Given the description of an element on the screen output the (x, y) to click on. 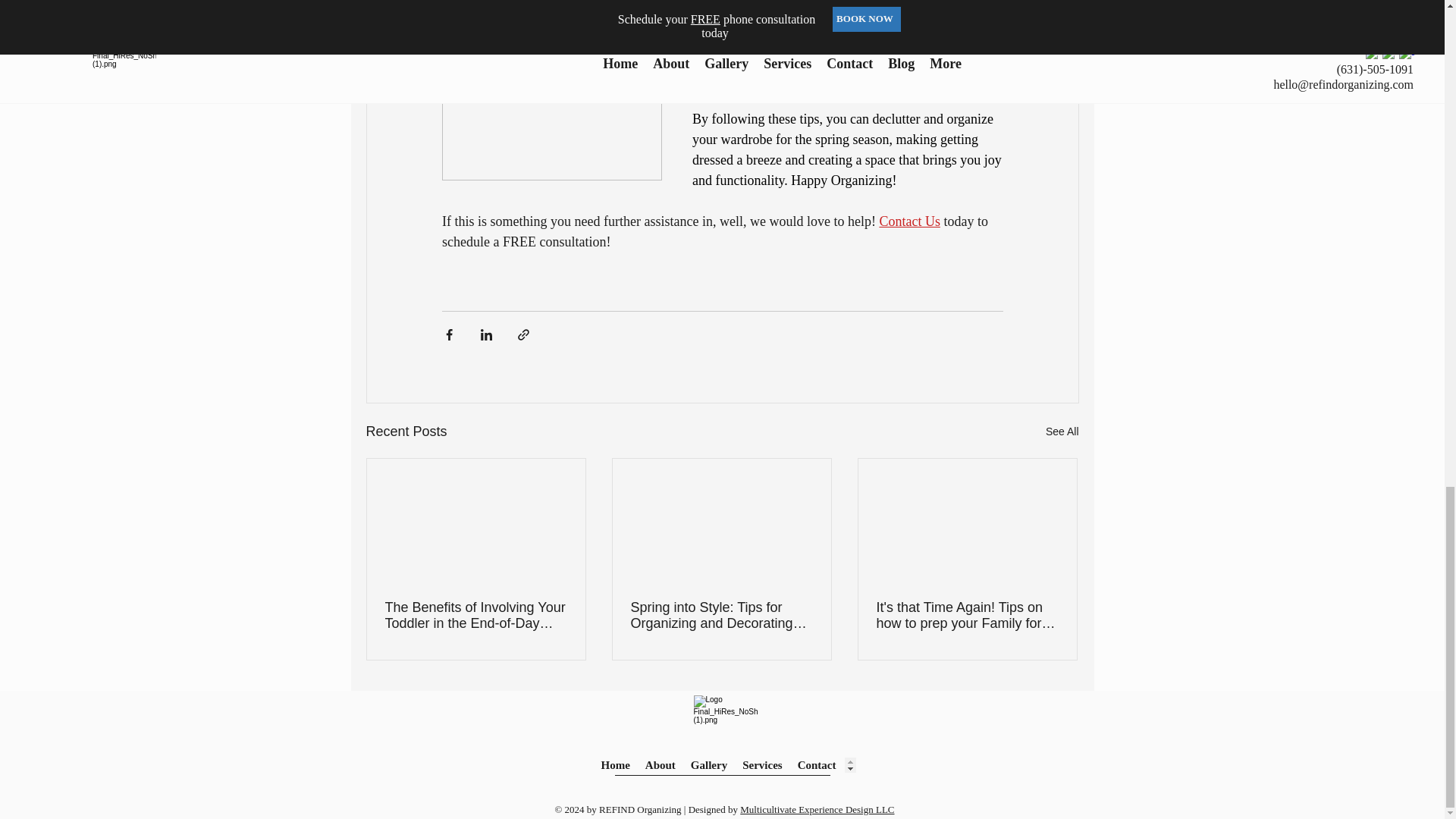
About (659, 765)
Gallery (708, 765)
Services (762, 765)
See All (1061, 431)
Home (614, 765)
Contact Us (909, 221)
Contact (817, 765)
Blog (861, 765)
